Given the description of an element on the screen output the (x, y) to click on. 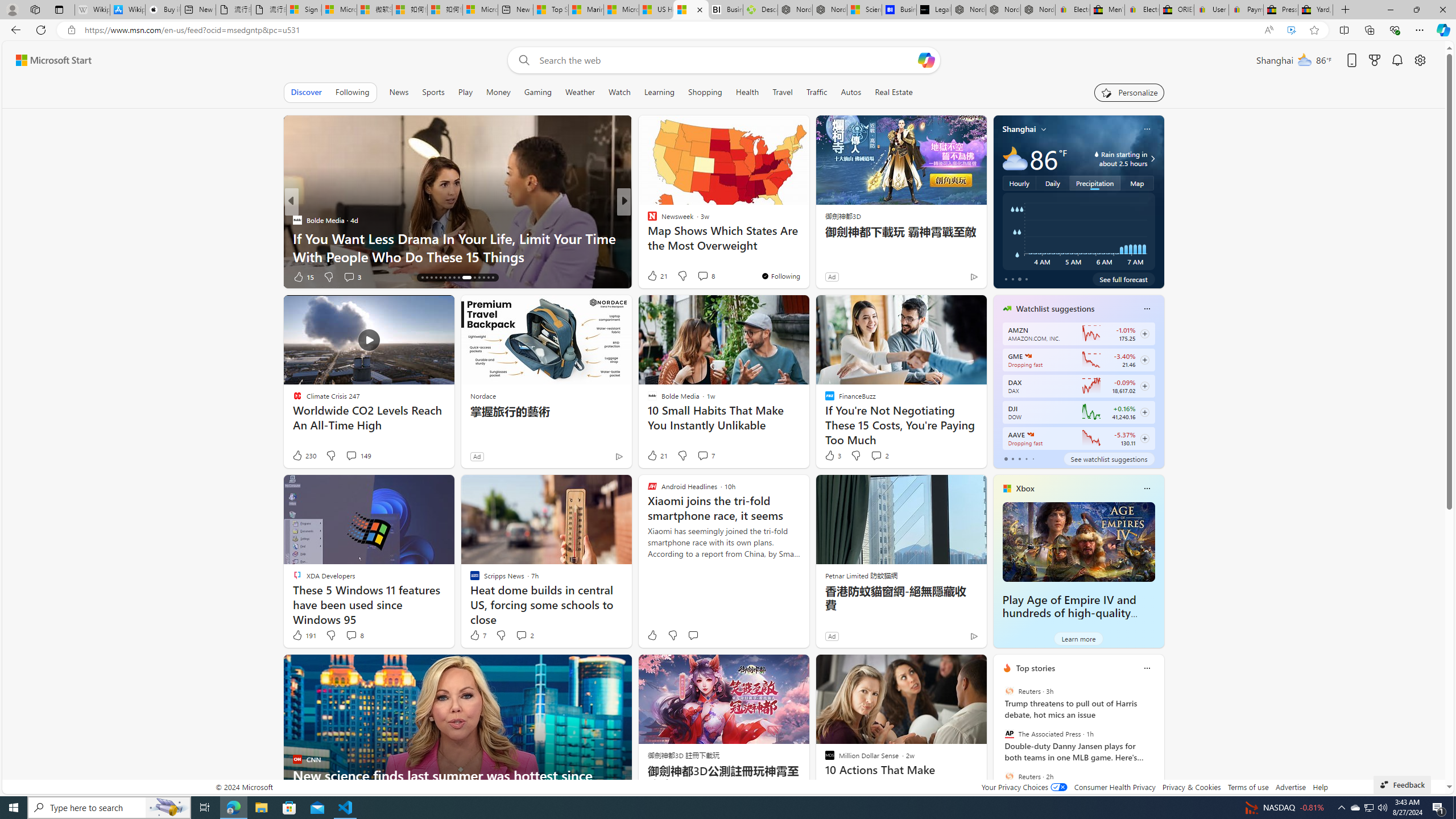
Class: icon-img (1146, 668)
View comments 7 Comment (705, 455)
View comments 8 Comment (350, 635)
4 AM 5 AM 6 AM 7 AM (1077, 231)
AutomationID: tab-27 (478, 277)
When did humans start wearing clothes? (807, 256)
Yard, Garden & Outdoor Living (1315, 9)
